Given the description of an element on the screen output the (x, y) to click on. 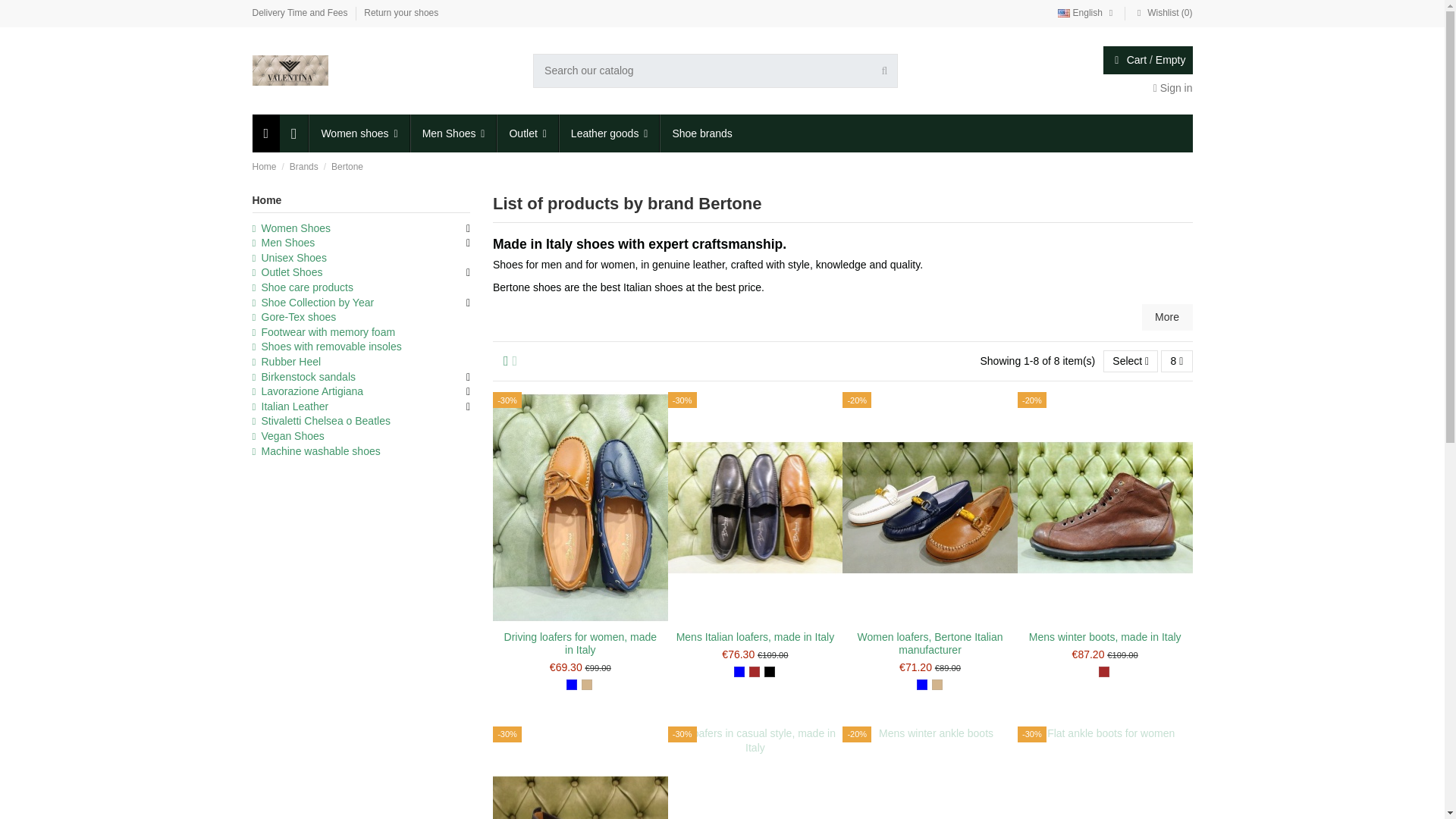
Return your shoes (401, 12)
Delivery Time and Fees (300, 12)
Log in to your customer account (1172, 87)
Blue (571, 684)
Sign in (1172, 87)
Blue (738, 671)
English (1087, 12)
Blue (922, 684)
Men Shoes (452, 133)
